Given the description of an element on the screen output the (x, y) to click on. 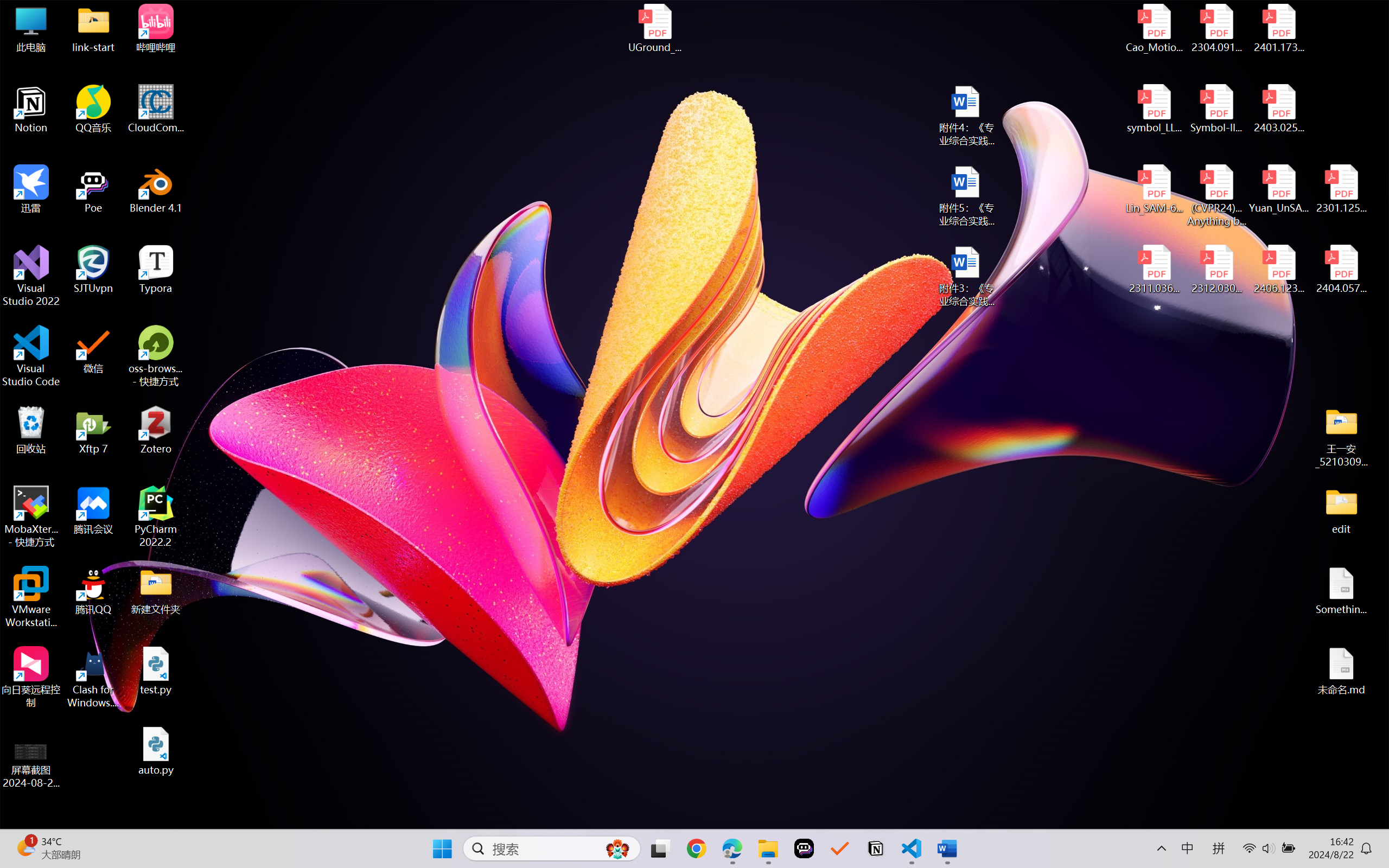
UGround_paper.pdf (654, 28)
Blender 4.1 (156, 189)
2311.03658v2.pdf (1154, 269)
2304.09121v3.pdf (1216, 28)
auto.py (156, 751)
2401.17399v1.pdf (1278, 28)
symbol_LLM.pdf (1154, 109)
